Given the description of an element on the screen output the (x, y) to click on. 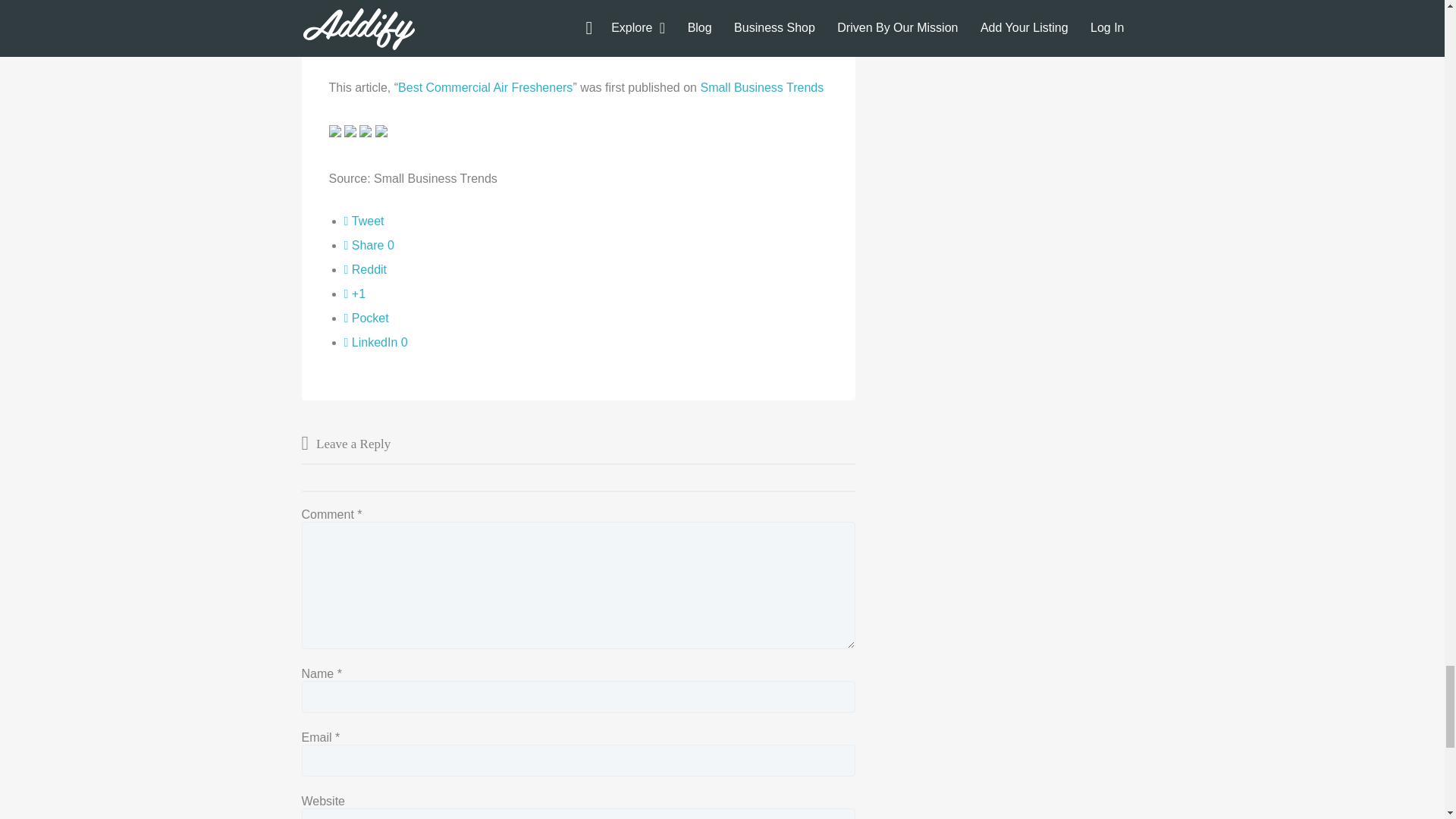
Share on Linkedin (375, 341)
Submit to Reddit (365, 269)
Share on Facebook (368, 245)
Save to read later on Pocket (365, 318)
Tweet on Twitter (363, 220)
